Given the description of an element on the screen output the (x, y) to click on. 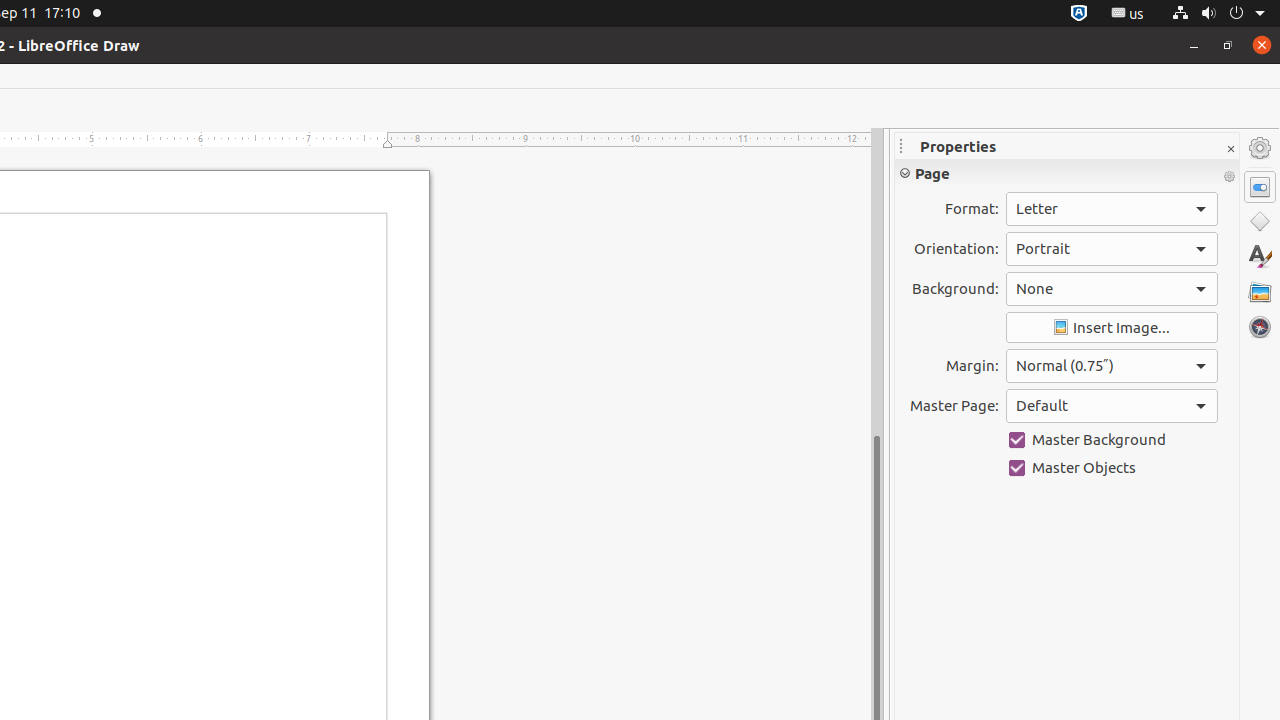
Master Background Element type: check-box (1112, 440)
Orientation: Element type: combo-box (1112, 249)
Gallery Element type: radio-button (1260, 292)
Master Objects Element type: check-box (1112, 468)
:1.21/StatusNotifierItem Element type: menu (1127, 13)
